Given the description of an element on the screen output the (x, y) to click on. 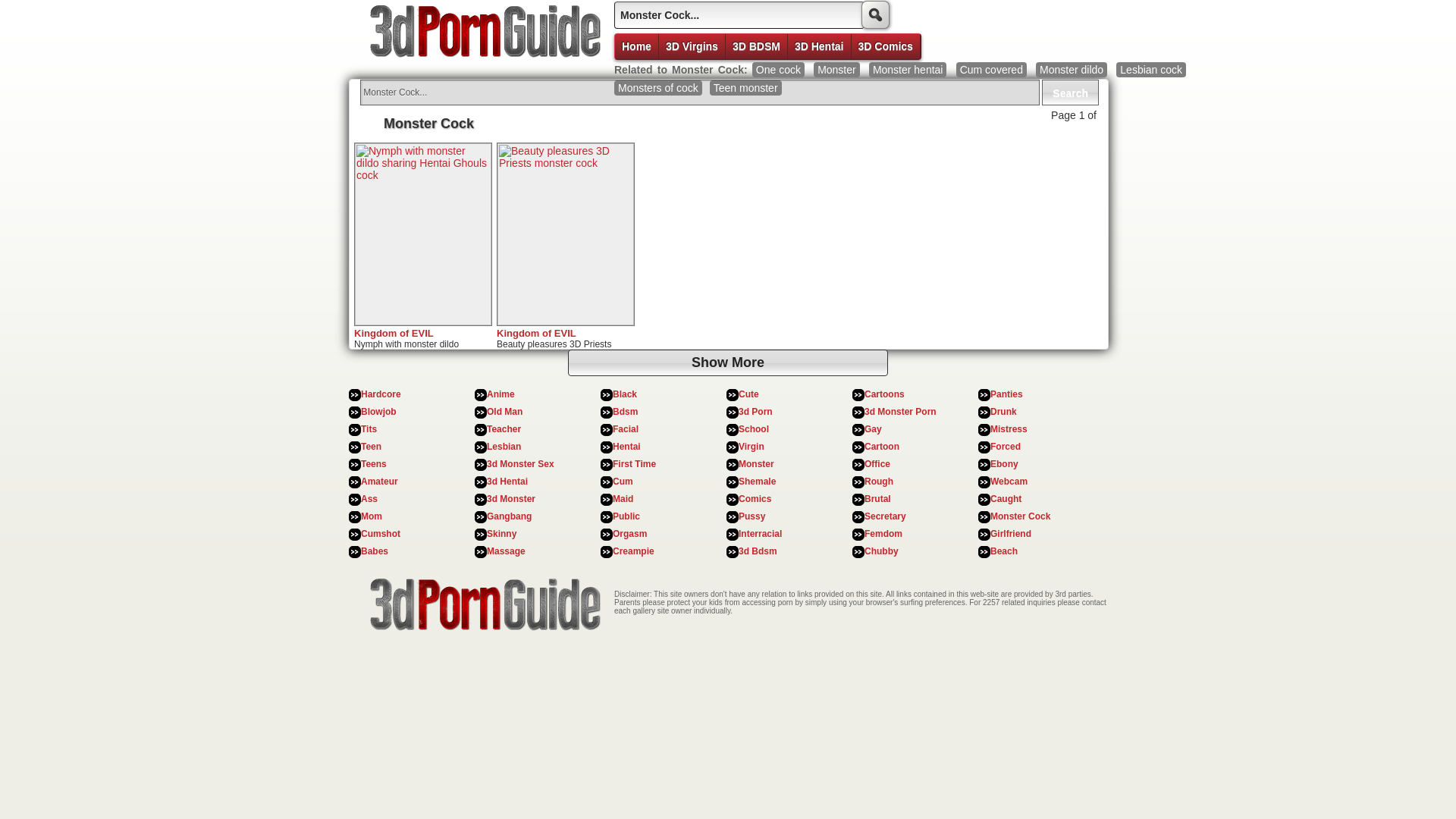
3D Porn Guide Element type: text (481, 35)
School Element type: text (753, 428)
Babes Element type: text (374, 551)
Kingdom of EVIL Element type: text (536, 332)
Panties Element type: text (1006, 394)
Monster Cock Element type: text (1020, 516)
Secretary Element type: text (885, 516)
Office Element type: text (877, 463)
Public Element type: text (626, 516)
Mom Element type: text (371, 516)
Hentai Element type: text (626, 446)
3d Hentai Element type: text (506, 481)
Cute Element type: text (748, 394)
Massage Element type: text (505, 551)
Interracial Element type: text (759, 533)
Hardcore Element type: text (380, 394)
Cum covered Element type: text (991, 69)
Pussy Element type: text (751, 516)
Monster dildo Element type: text (1071, 69)
Tits Element type: text (368, 428)
Orgasm Element type: text (629, 533)
Cum Element type: text (622, 481)
Maid Element type: text (622, 498)
Cartoons Element type: text (884, 394)
3d Porn Element type: text (755, 411)
Beach Element type: text (1003, 551)
Old Man Element type: text (504, 411)
Chubby Element type: text (881, 551)
Facial Element type: text (625, 428)
First Time Element type: text (633, 463)
Caught Element type: text (1005, 498)
Webcam Element type: text (1008, 481)
3D Comics Element type: text (884, 46)
Monster Element type: text (836, 69)
Bdsm Element type: text (624, 411)
Cartoon Element type: text (881, 446)
Drunk Element type: text (1003, 411)
Search Element type: text (1069, 92)
Lesbian Element type: text (503, 446)
3d Monster Porn Element type: text (900, 411)
Black Element type: text (624, 394)
Mistress Element type: text (1008, 428)
Girlfriend Element type: text (1010, 533)
Creampie Element type: text (633, 551)
One cock Element type: text (778, 69)
Lesbian cock Element type: text (1151, 69)
Teacher Element type: text (503, 428)
Brutal Element type: text (877, 498)
Comics Element type: text (754, 498)
Rough Element type: text (878, 481)
Monsters of cock Element type: text (658, 87)
3D Hentai Element type: text (819, 46)
Gangbang Element type: text (508, 516)
Skinny Element type: text (501, 533)
3D Virgins Element type: text (691, 46)
Kingdom of EVIL Element type: text (393, 332)
Teen Element type: text (370, 446)
Shemale Element type: text (756, 481)
Femdom Element type: text (883, 533)
Blowjob Element type: text (378, 411)
Show More Element type: text (727, 362)
Ass Element type: text (368, 498)
3d Monster Element type: text (510, 498)
Gay Element type: text (872, 428)
Teen monster Element type: text (745, 87)
Home Element type: text (636, 46)
Monster Element type: text (756, 463)
Teens Element type: text (373, 463)
3D BDSM Element type: text (756, 46)
Monster hentai Element type: text (908, 69)
Virgin Element type: text (751, 446)
Ebony Element type: text (1004, 463)
Anime Element type: text (500, 394)
Cumshot Element type: text (380, 533)
Forced Element type: text (1005, 446)
Amateur Element type: text (379, 481)
3d Monster Sex Element type: text (520, 463)
3d Bdsm Element type: text (757, 551)
